Given the description of an element on the screen output the (x, y) to click on. 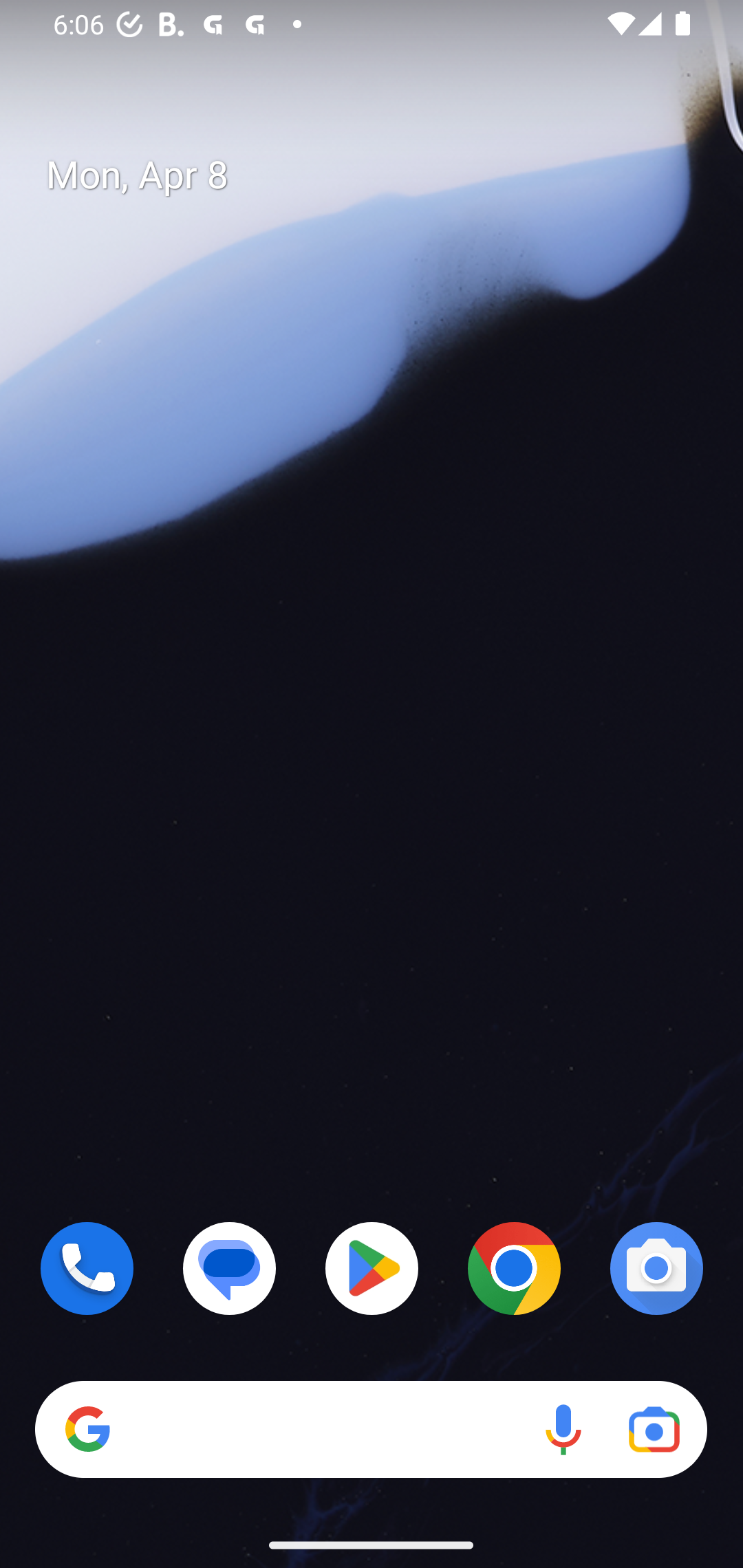
Mon, Apr 8 (386, 175)
Phone (86, 1268)
Messages (229, 1268)
Play Store (371, 1268)
Chrome (513, 1268)
Camera (656, 1268)
Search Voice search Google Lens (370, 1429)
Voice search (562, 1429)
Google Lens (653, 1429)
